Given the description of an element on the screen output the (x, y) to click on. 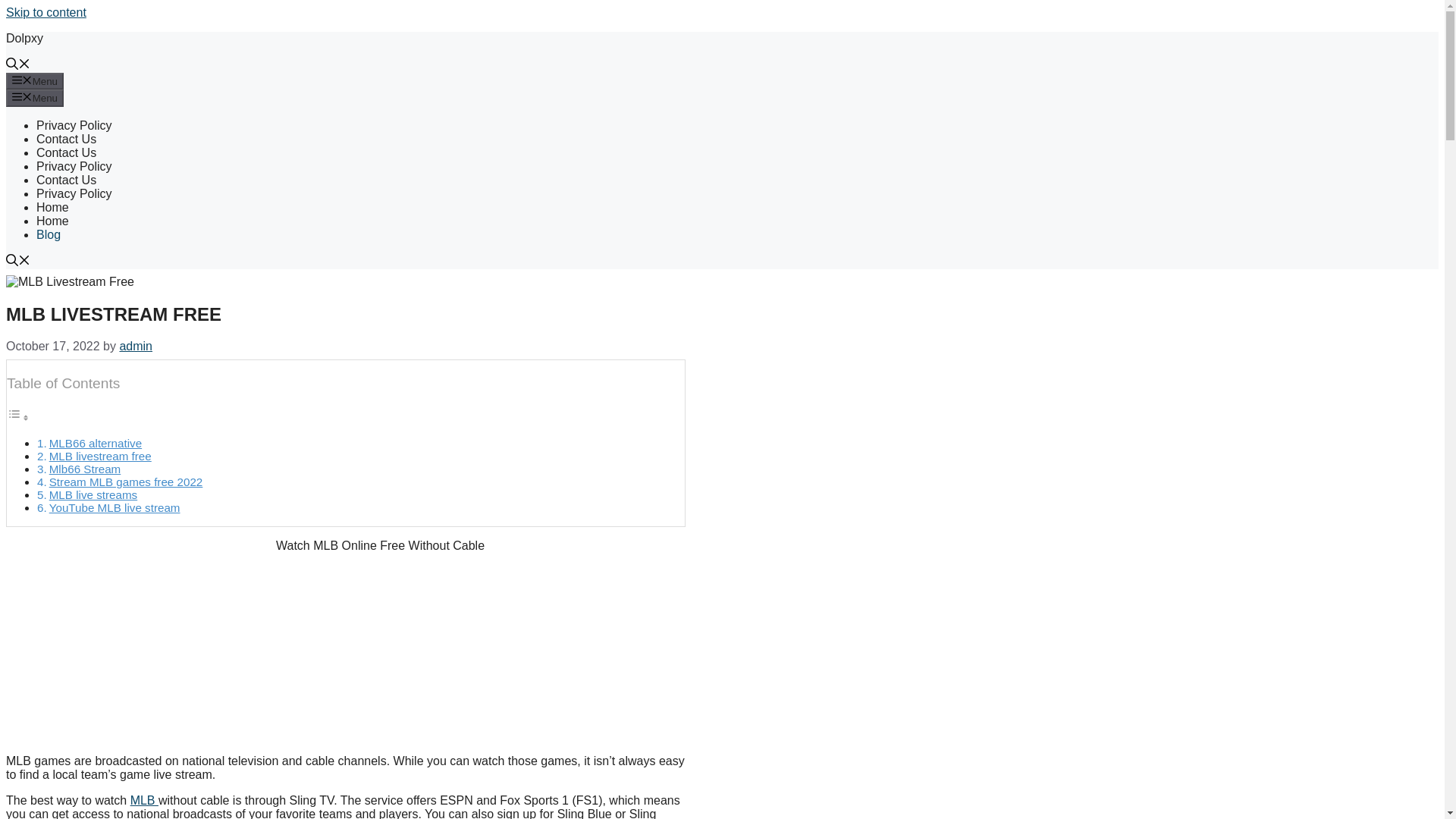
Contact Us (66, 179)
Stream MLB games free 2022 (126, 481)
Mlb66 Stream (84, 468)
Blog (48, 234)
Contact Us (66, 152)
YouTube MLB live stream (114, 507)
MLB (144, 799)
MLB66 alternative (95, 442)
Home (52, 206)
Skip to content (45, 11)
Privacy Policy (74, 193)
admin (135, 345)
View all posts by admin (135, 345)
MLB livestream free (100, 455)
MLB66 alternative (95, 442)
